Given the description of an element on the screen output the (x, y) to click on. 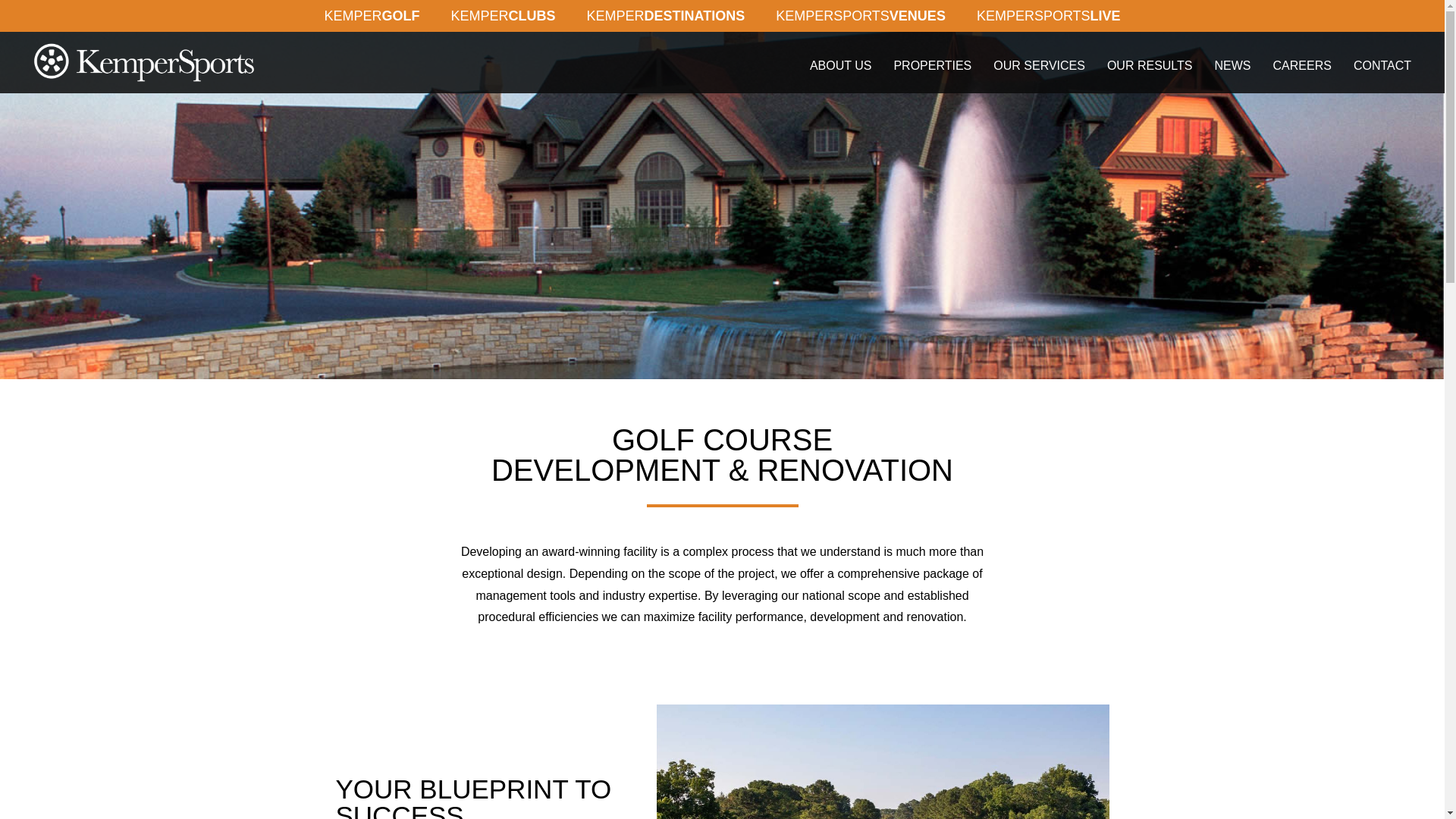
KEMPERSPORTSVENUES (860, 15)
ABOUT US (840, 66)
CONTACT (1382, 66)
PROPERTIES (931, 66)
KEMPERSPORTSLIVE (1047, 15)
KEMPERCLUBS (502, 15)
OUR RESULTS (1150, 66)
KEMPERGOLF (370, 15)
CAREERS (1302, 66)
NEWS (1233, 66)
